Given the description of an element on the screen output the (x, y) to click on. 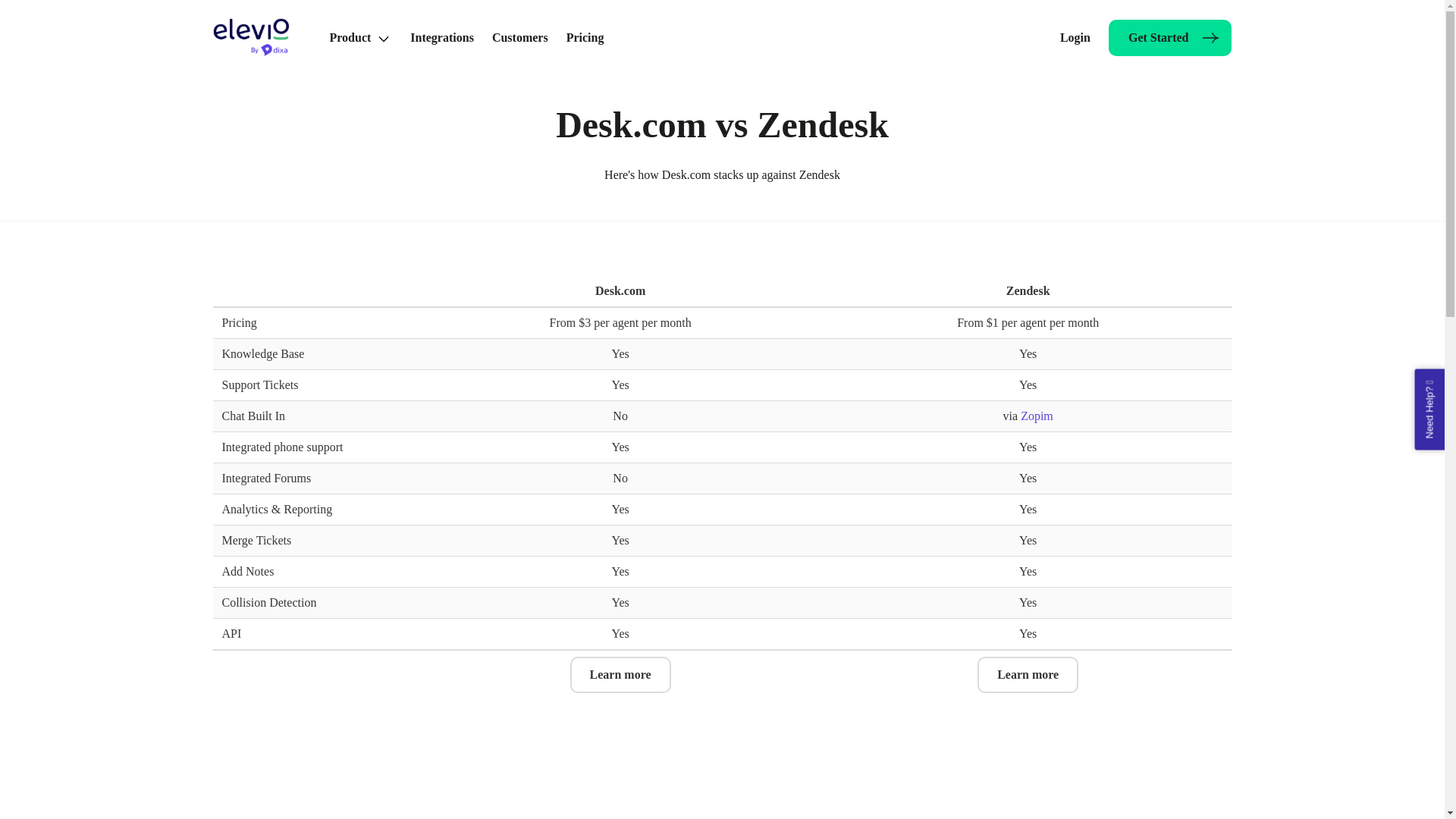
Customers (520, 37)
Learn more (1027, 674)
Zopim (1036, 415)
Product (360, 37)
Pricing (584, 37)
Integrations (442, 37)
Learn more (620, 674)
Get Started (1169, 37)
